Given the description of an element on the screen output the (x, y) to click on. 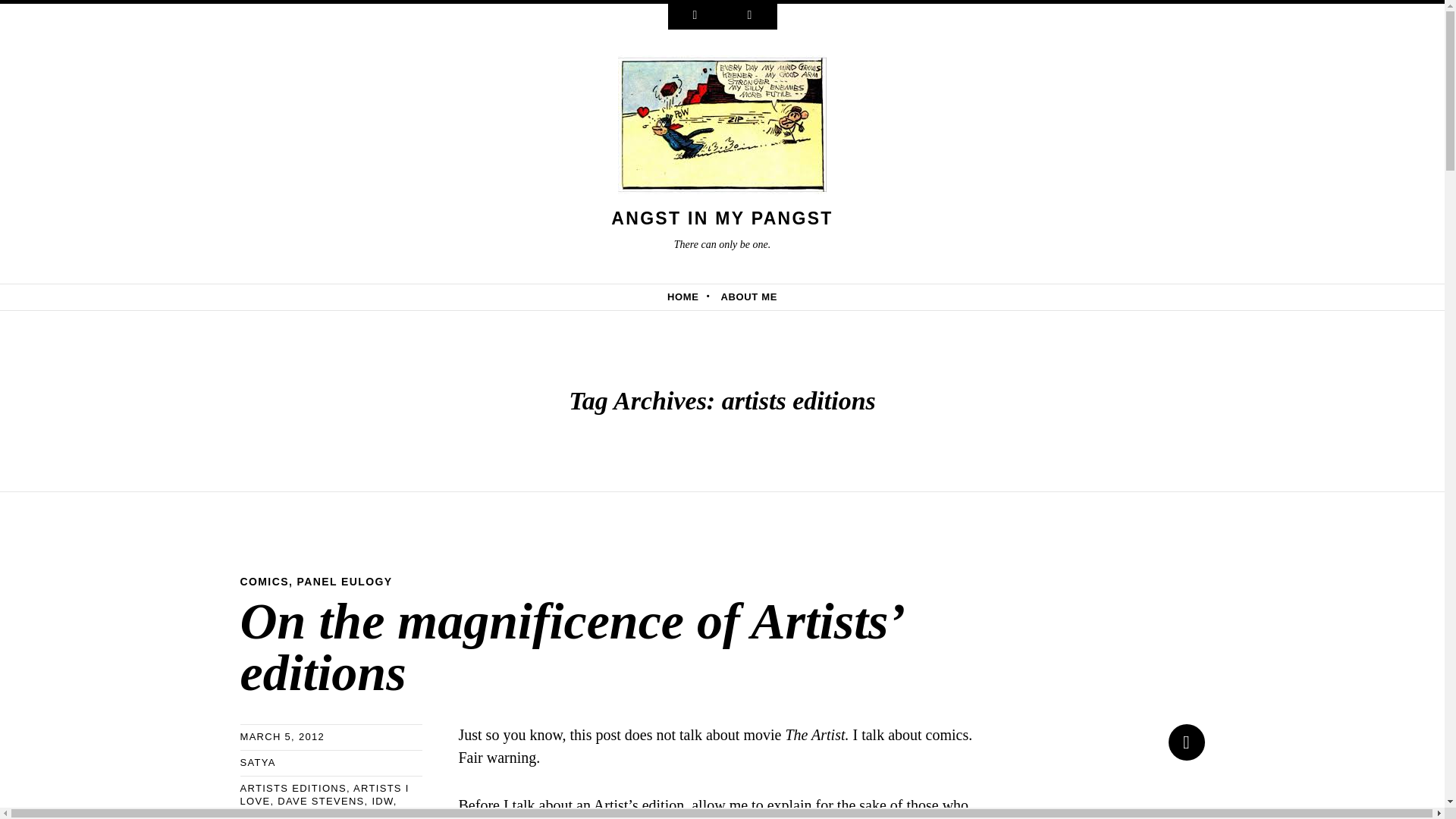
Angst In My Pangst (721, 218)
Widgets (694, 16)
Angst In My Pangst (722, 128)
9:05 pm (282, 736)
Search (749, 16)
View all posts by Satya (257, 762)
Skip to content (56, 296)
